Given the description of an element on the screen output the (x, y) to click on. 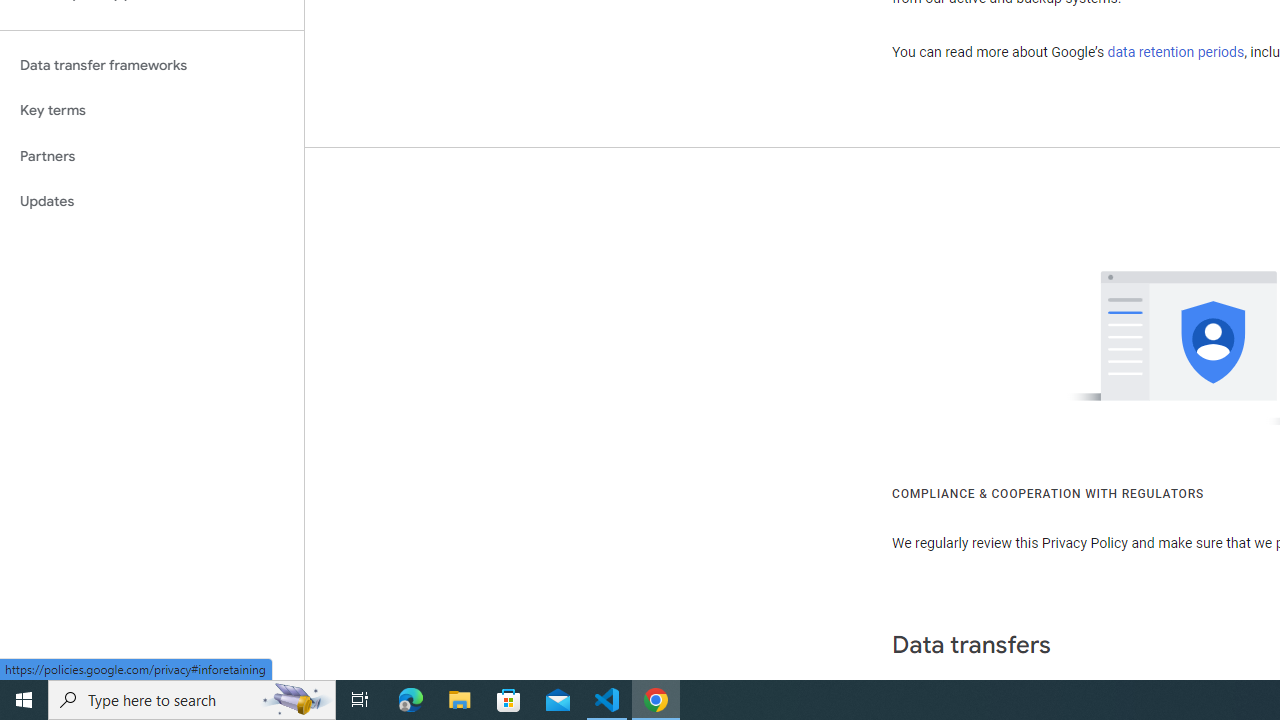
Updates (152, 201)
Partners (152, 156)
data retention periods (1176, 52)
Data transfer frameworks (152, 65)
Key terms (152, 110)
